Given the description of an element on the screen output the (x, y) to click on. 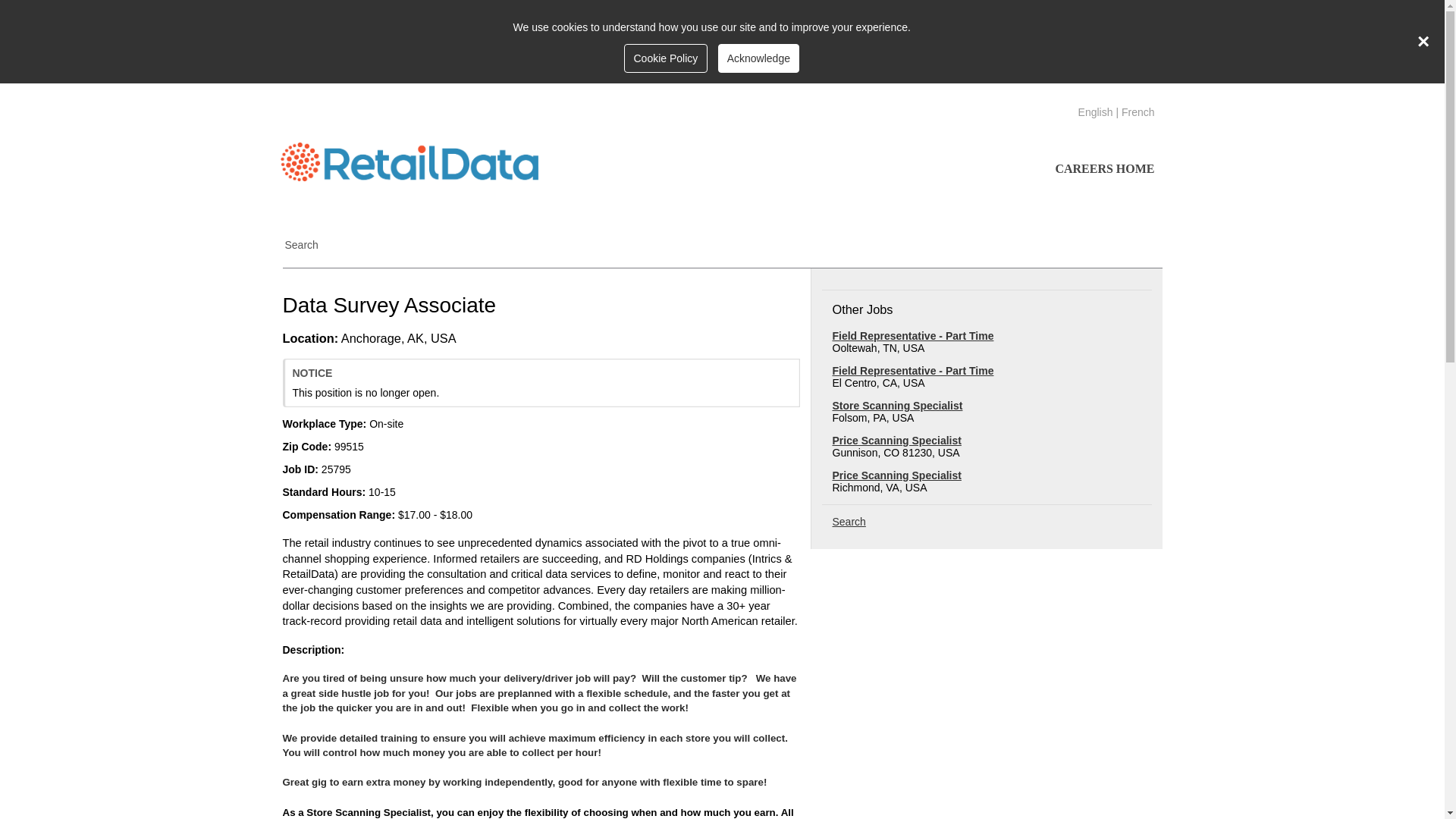
Field Representative - Part Time (913, 336)
Field Representative - Part Time (913, 370)
Search (849, 521)
CAREERS HOME (1104, 169)
Store Scanning Specialist (897, 405)
French (1137, 111)
Search (301, 246)
Price Scanning Specialist (896, 440)
Acknowledge (758, 58)
English (1095, 111)
